Given the description of an element on the screen output the (x, y) to click on. 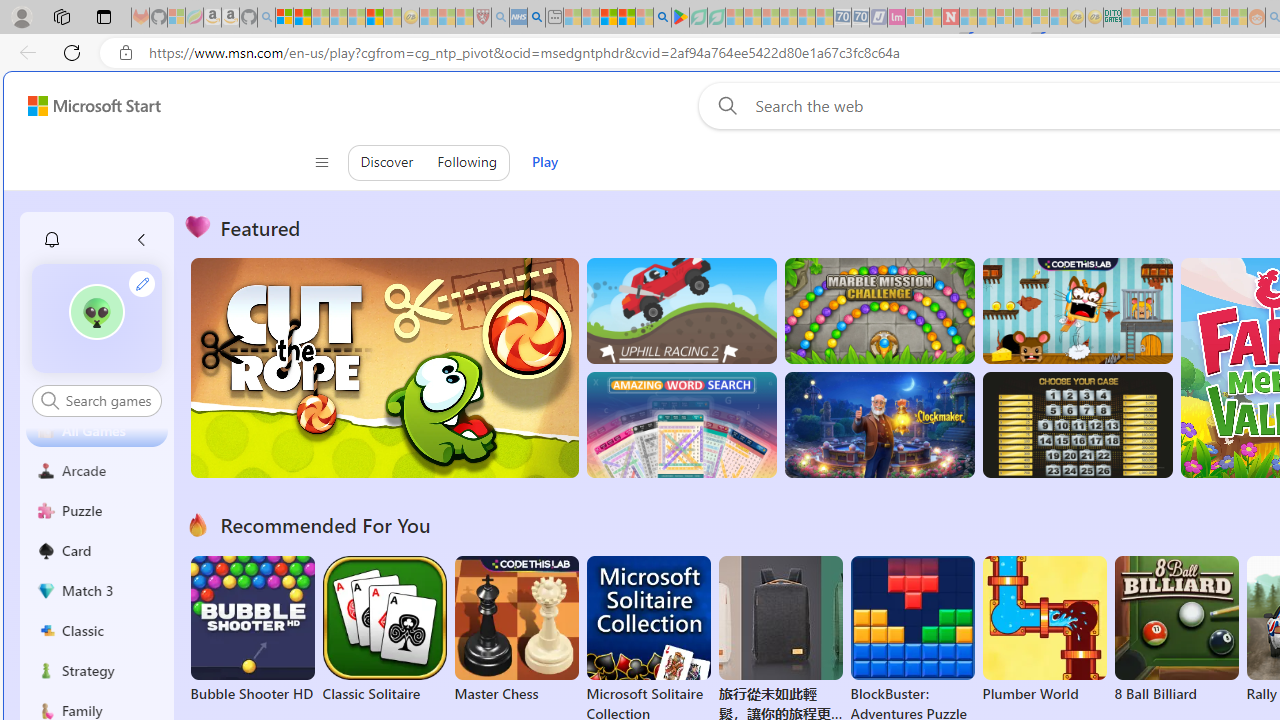
Plumber World (1044, 629)
""'s avatar (96, 312)
Master Chess (516, 629)
Bluey: Let's Play! - Apps on Google Play (680, 17)
""'s avatar (97, 318)
